Given the description of an element on the screen output the (x, y) to click on. 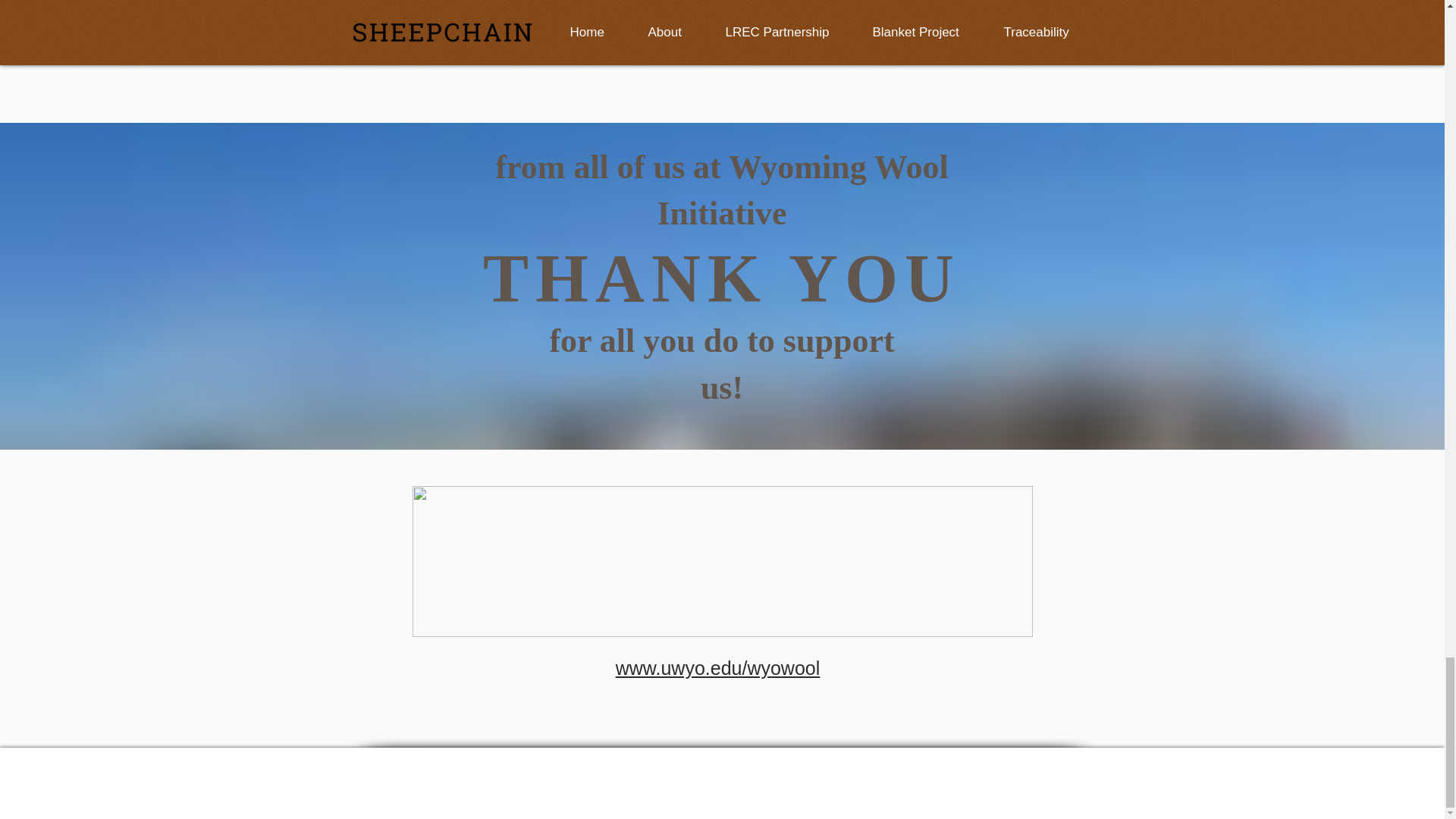
WY Wool I.png (722, 561)
